Given the description of an element on the screen output the (x, y) to click on. 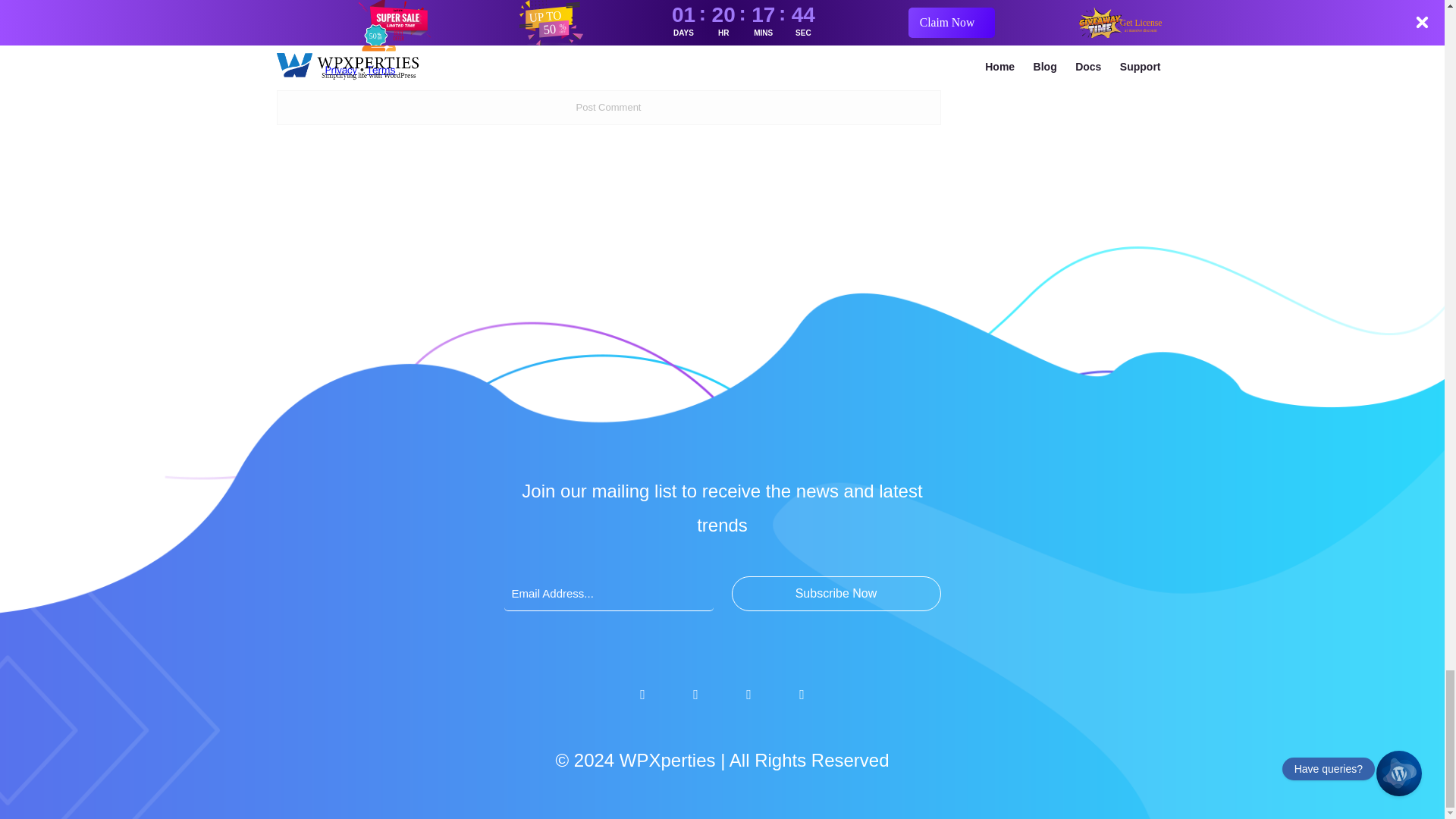
yes (302, 11)
Post Comment (608, 107)
Post Comment (608, 107)
